Given the description of an element on the screen output the (x, y) to click on. 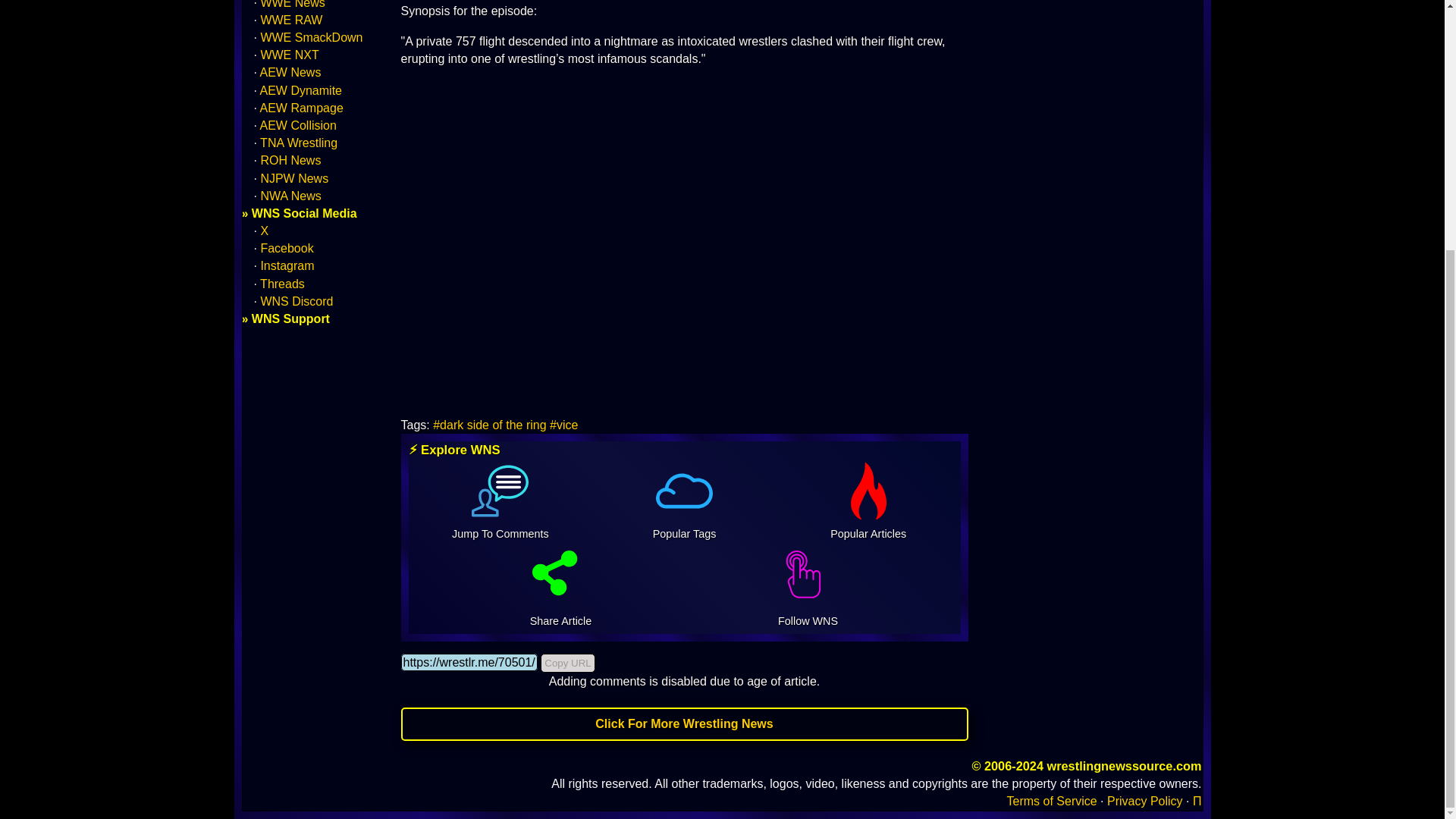
WWE News (292, 4)
WWE SmackDown (311, 37)
TNA Wrestling (298, 142)
Instagram (287, 265)
NJPW News (294, 178)
AEW Rampage (301, 107)
AEW Dynamite (301, 90)
Facebook (286, 247)
ROH News (290, 160)
AEW News (290, 72)
AEW Collision (298, 124)
WWE RAW (290, 19)
Threads (282, 283)
NWA News (290, 195)
